Given the description of an element on the screen output the (x, y) to click on. 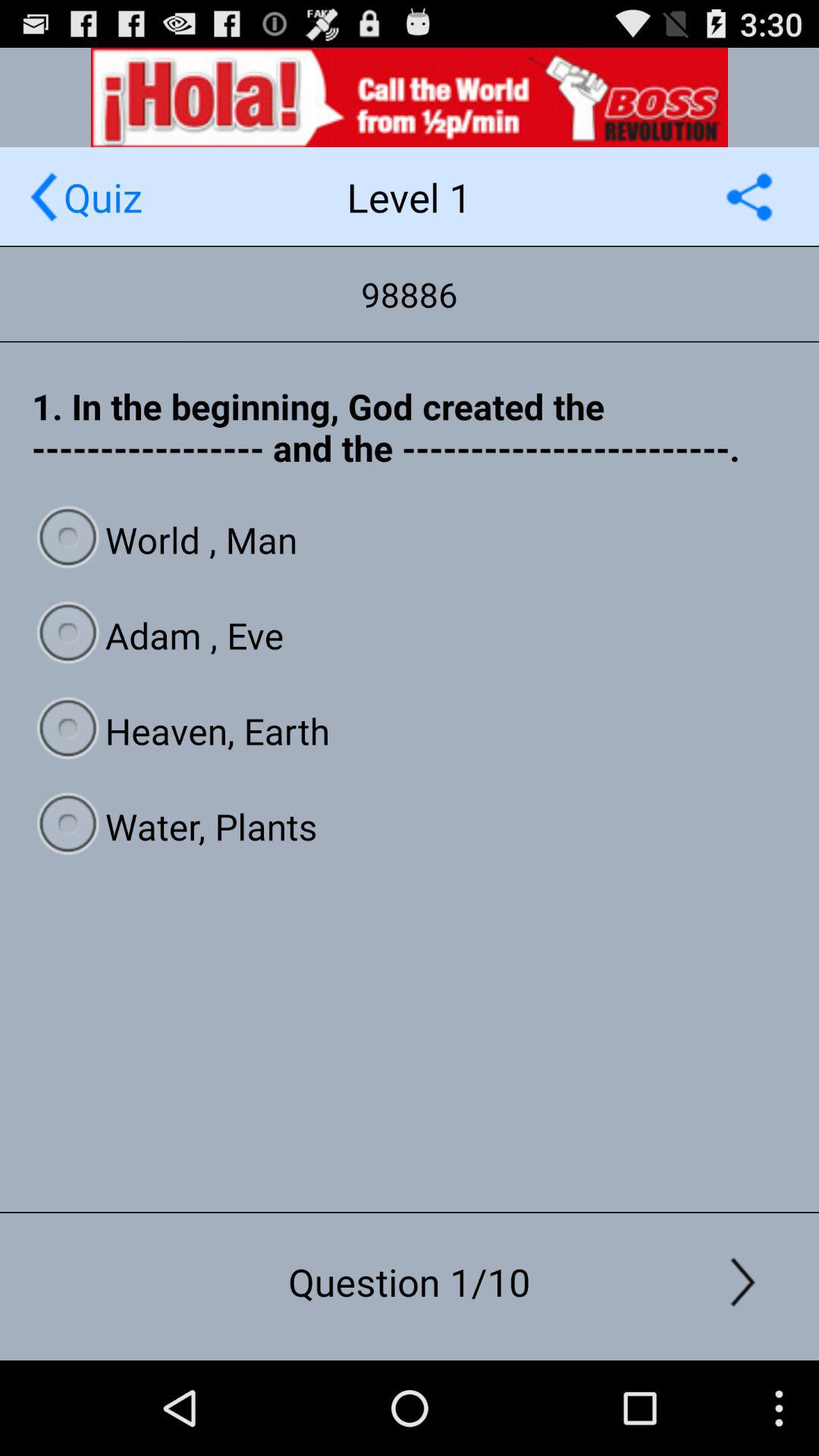
share option (749, 196)
